Given the description of an element on the screen output the (x, y) to click on. 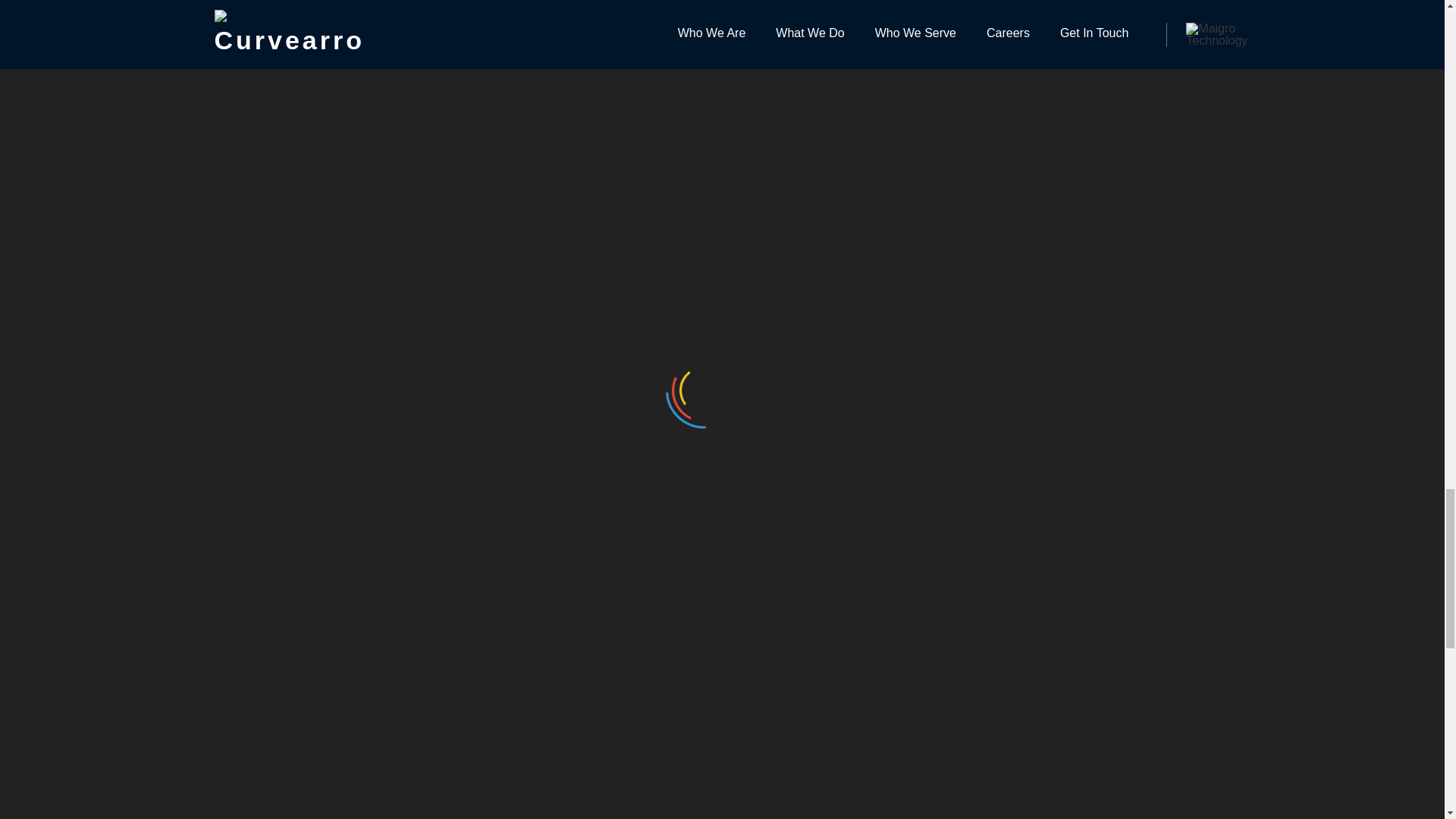
By Monika Gola (328, 462)
Enhance Quality Traffic To Your Blog With These Tips (709, 775)
business (361, 199)
6 Efficient SEO Tactics For eLearning System (1056, 775)
subscribe (550, 371)
